Given the description of an element on the screen output the (x, y) to click on. 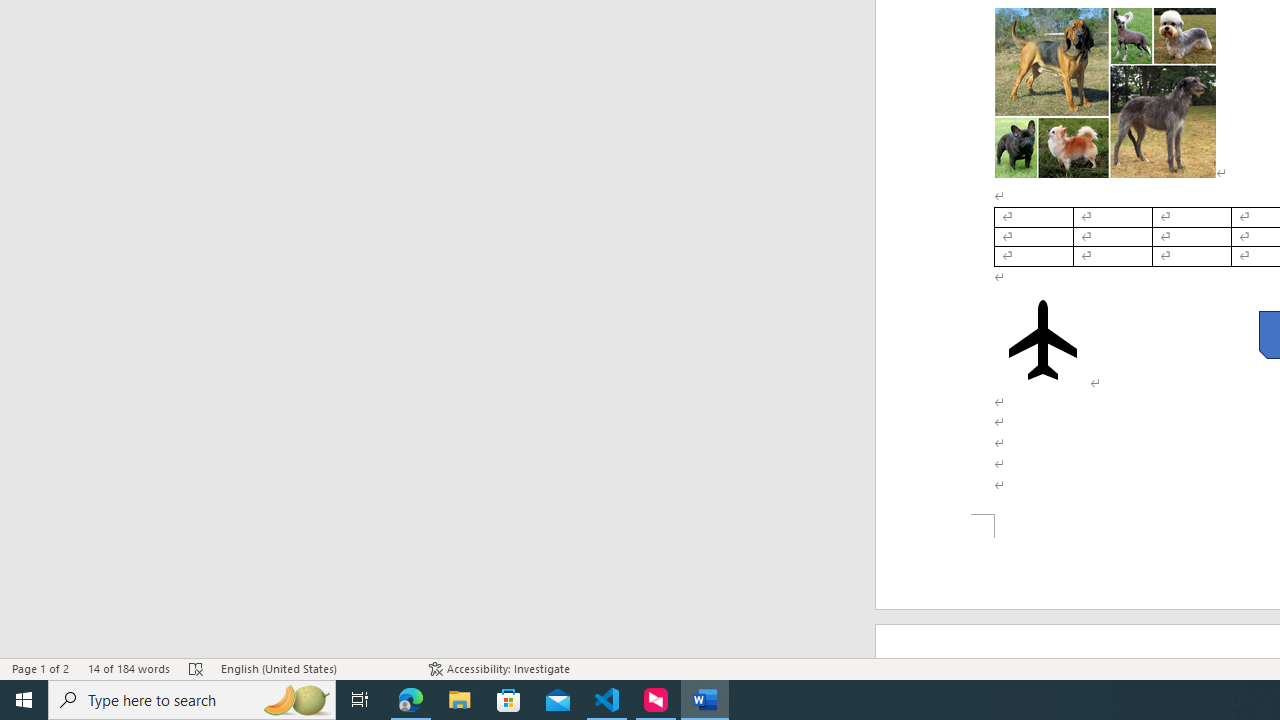
Airplane with solid fill (1042, 340)
Morphological variation in six dogs (1105, 92)
Spelling and Grammar Check Errors (196, 668)
Page Number Page 1 of 2 (39, 668)
